Given the description of an element on the screen output the (x, y) to click on. 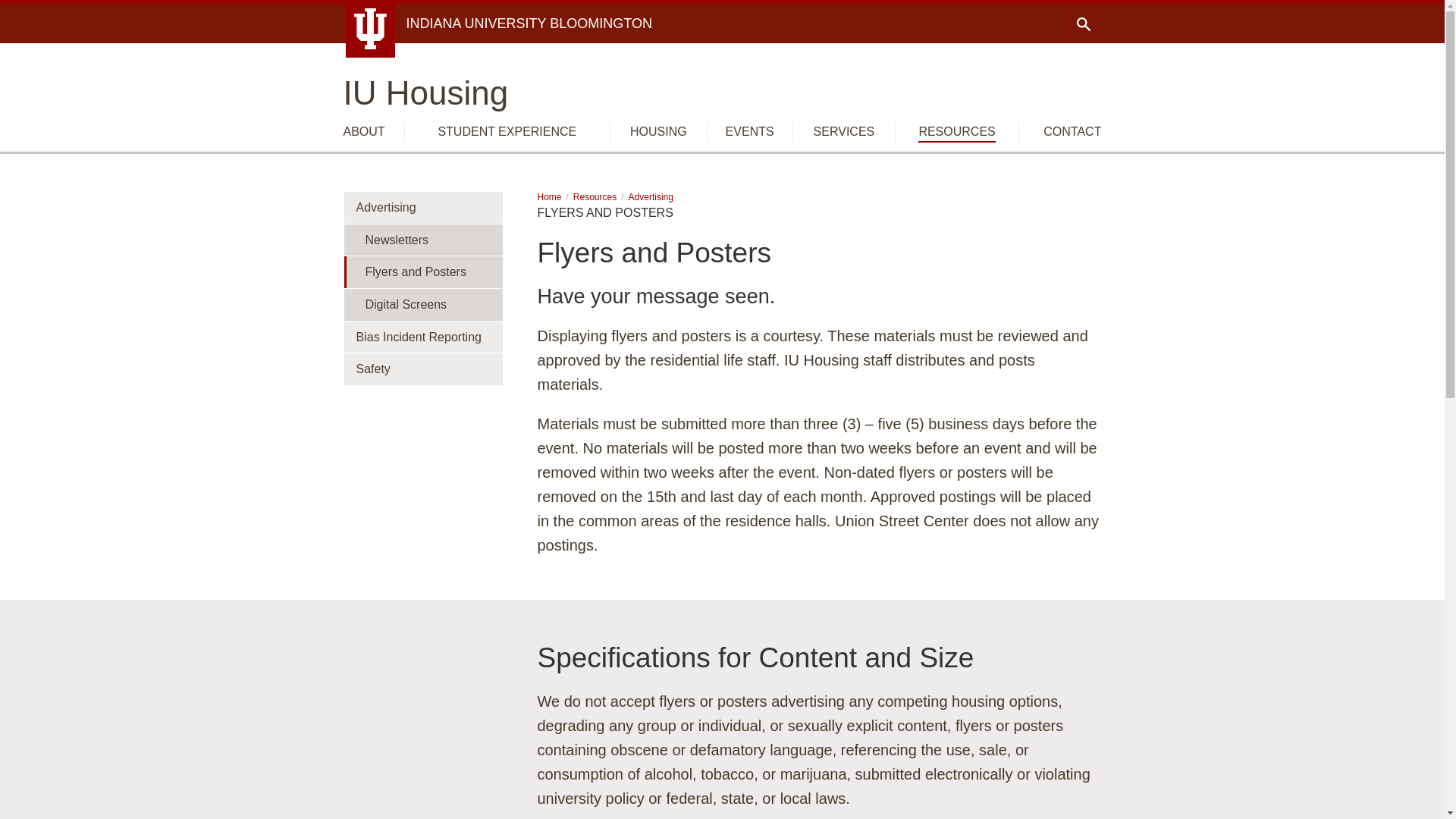
Indiana University Bloomington (529, 23)
INDIANA UNIVERSITY BLOOMINGTON (529, 23)
